Given the description of an element on the screen output the (x, y) to click on. 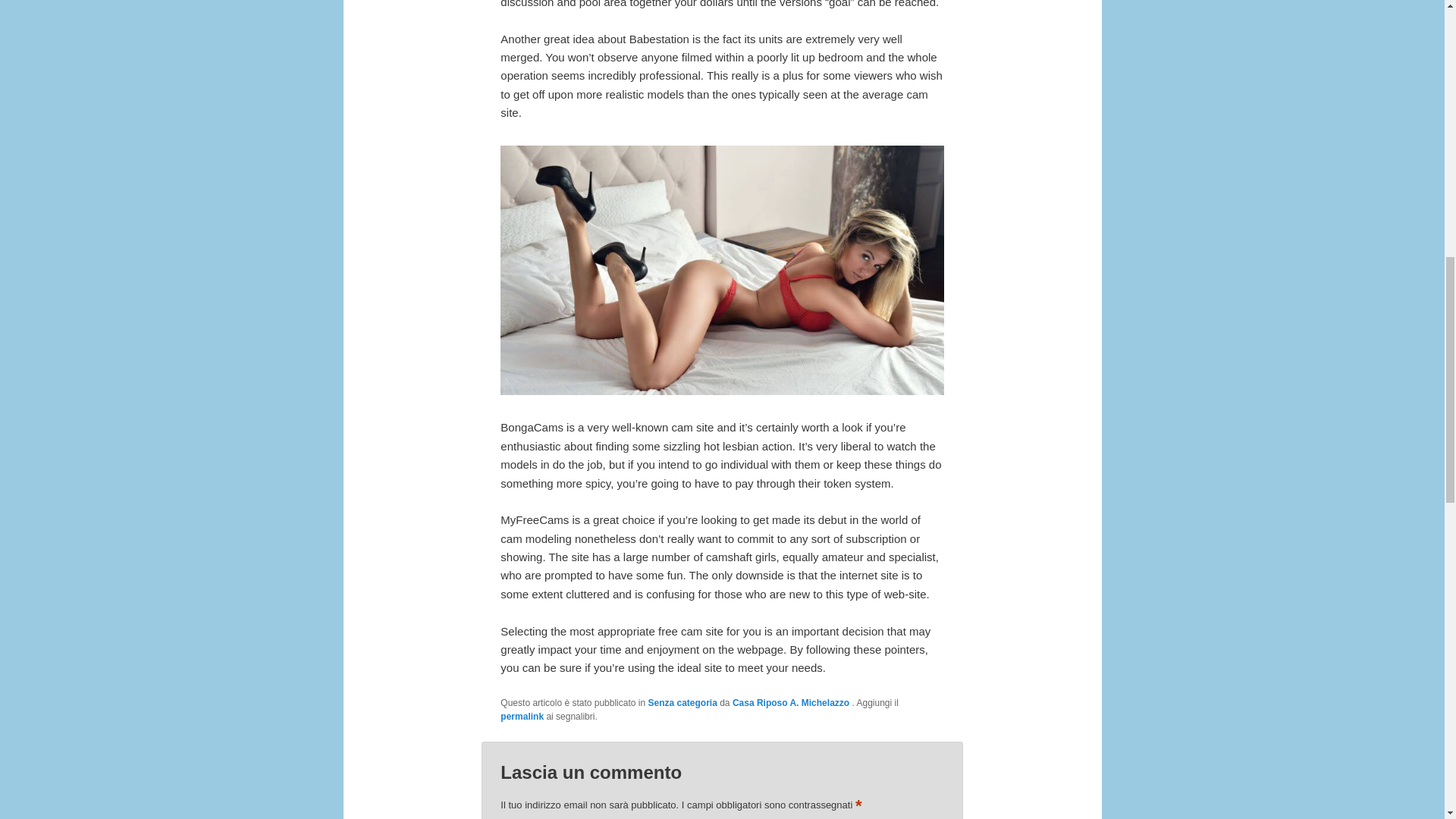
Casa Riposo A. Michelazzo (791, 702)
permalink (521, 716)
Senza categoria (681, 702)
Permalink a Free Webcam Websites For Cam to Camshaft Adult (521, 716)
